Given the description of an element on the screen output the (x, y) to click on. 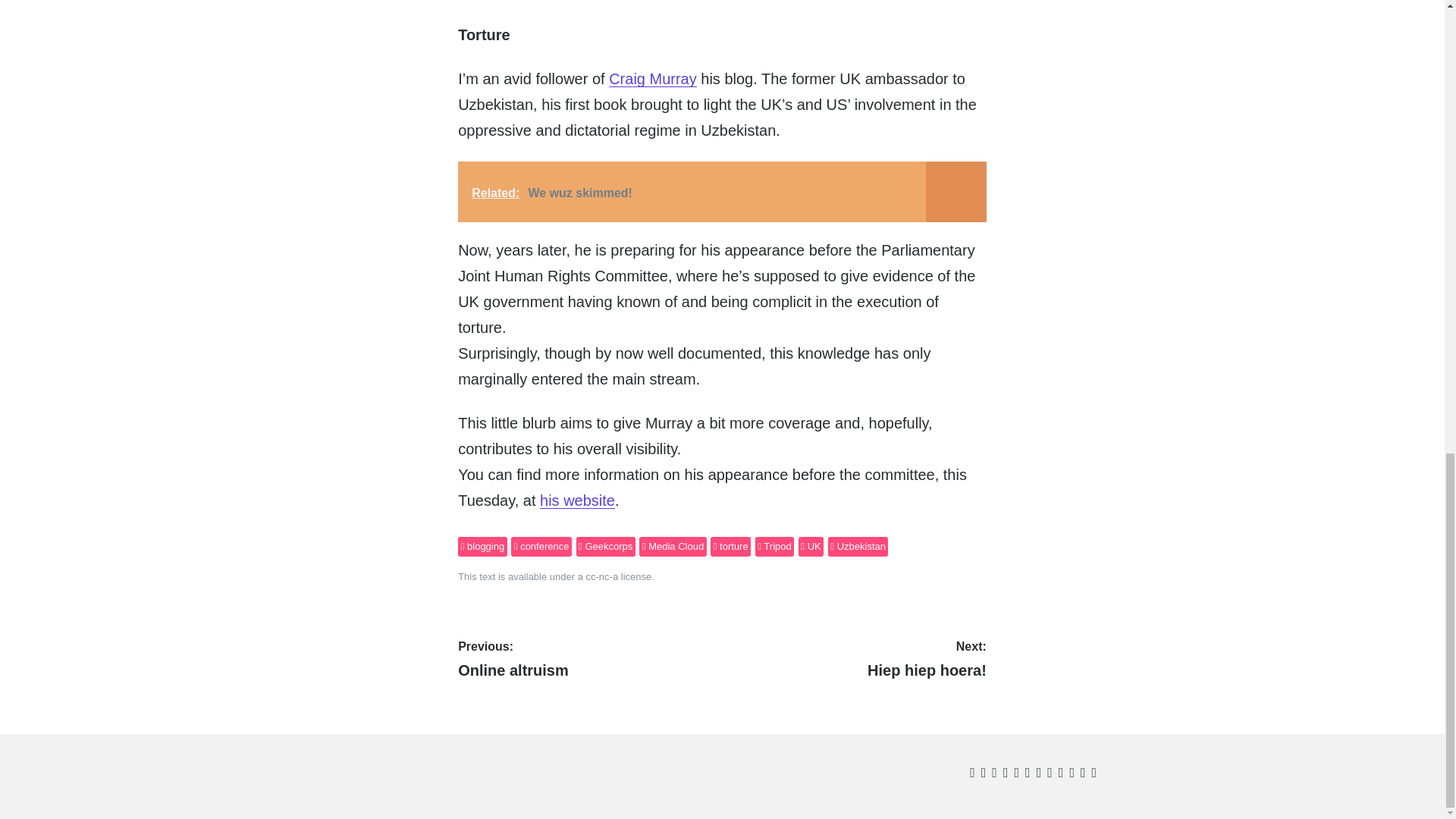
Craig Murray (652, 78)
Related:  We wuz skimmed! (722, 191)
 blogging (482, 546)
 conference (541, 546)
 Geekcorps (605, 546)
his website (577, 500)
 Media Cloud (672, 546)
